Given the description of an element on the screen output the (x, y) to click on. 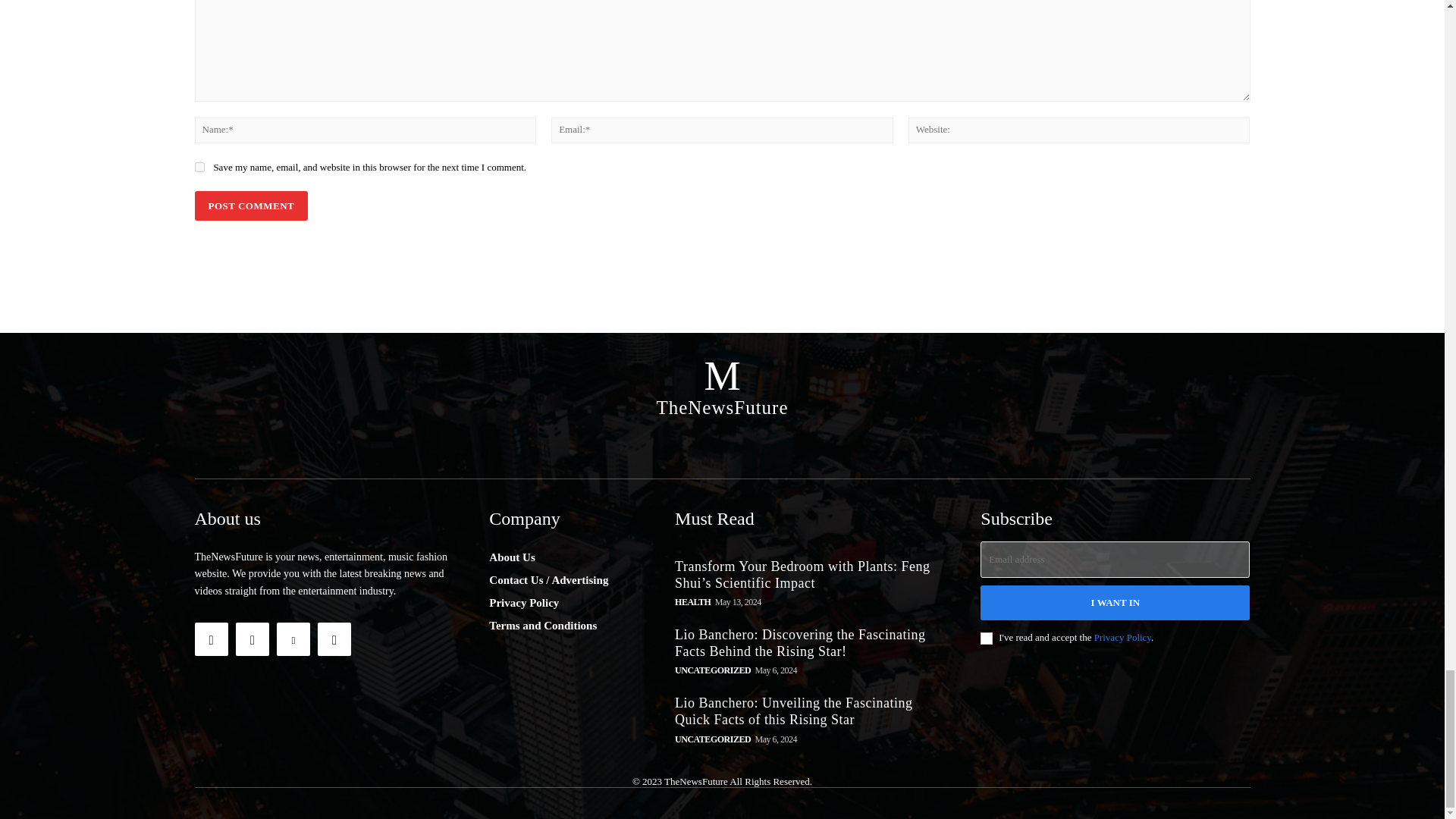
yes (198, 166)
Post Comment (250, 205)
